Given the description of an element on the screen output the (x, y) to click on. 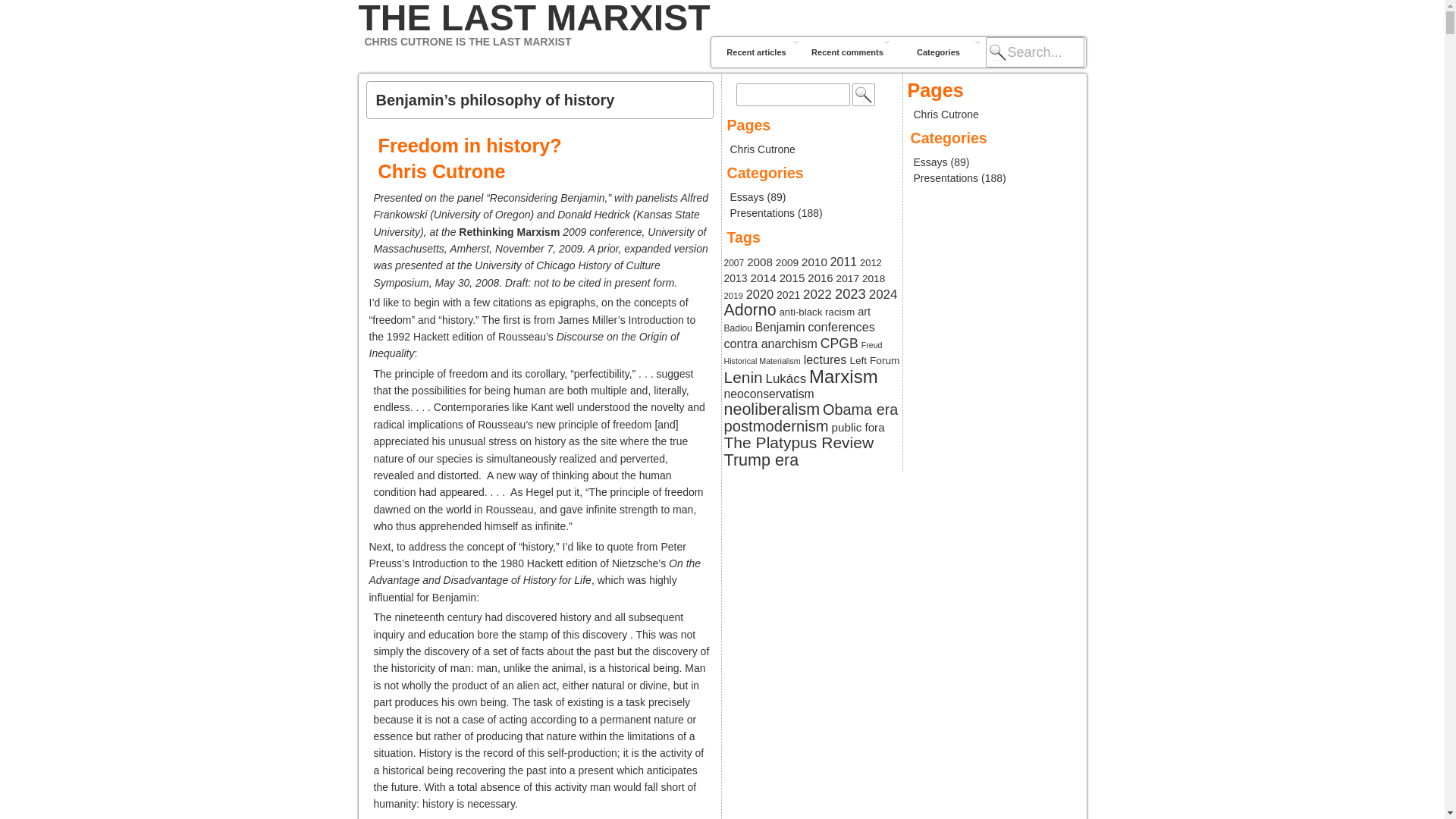
Search... (1034, 51)
Search (863, 94)
